Given the description of an element on the screen output the (x, y) to click on. 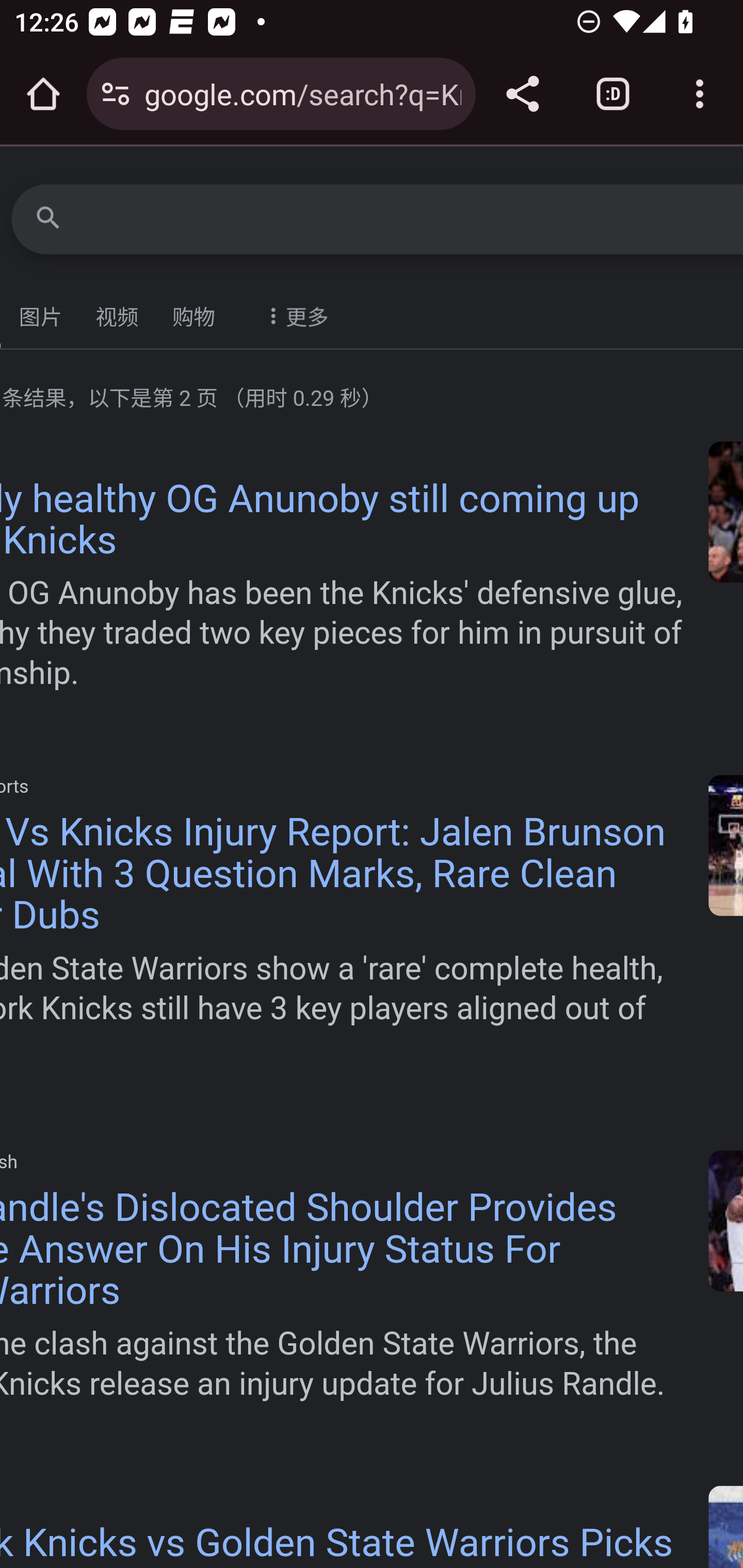
Open the home page (43, 93)
Connection is secure (115, 93)
Share (522, 93)
Switch or close tabs (612, 93)
Customize and control Google Chrome (699, 93)
图片 (41, 312)
视频 (118, 312)
购物 (194, 312)
More Filters (293, 305)
